Given the description of an element on the screen output the (x, y) to click on. 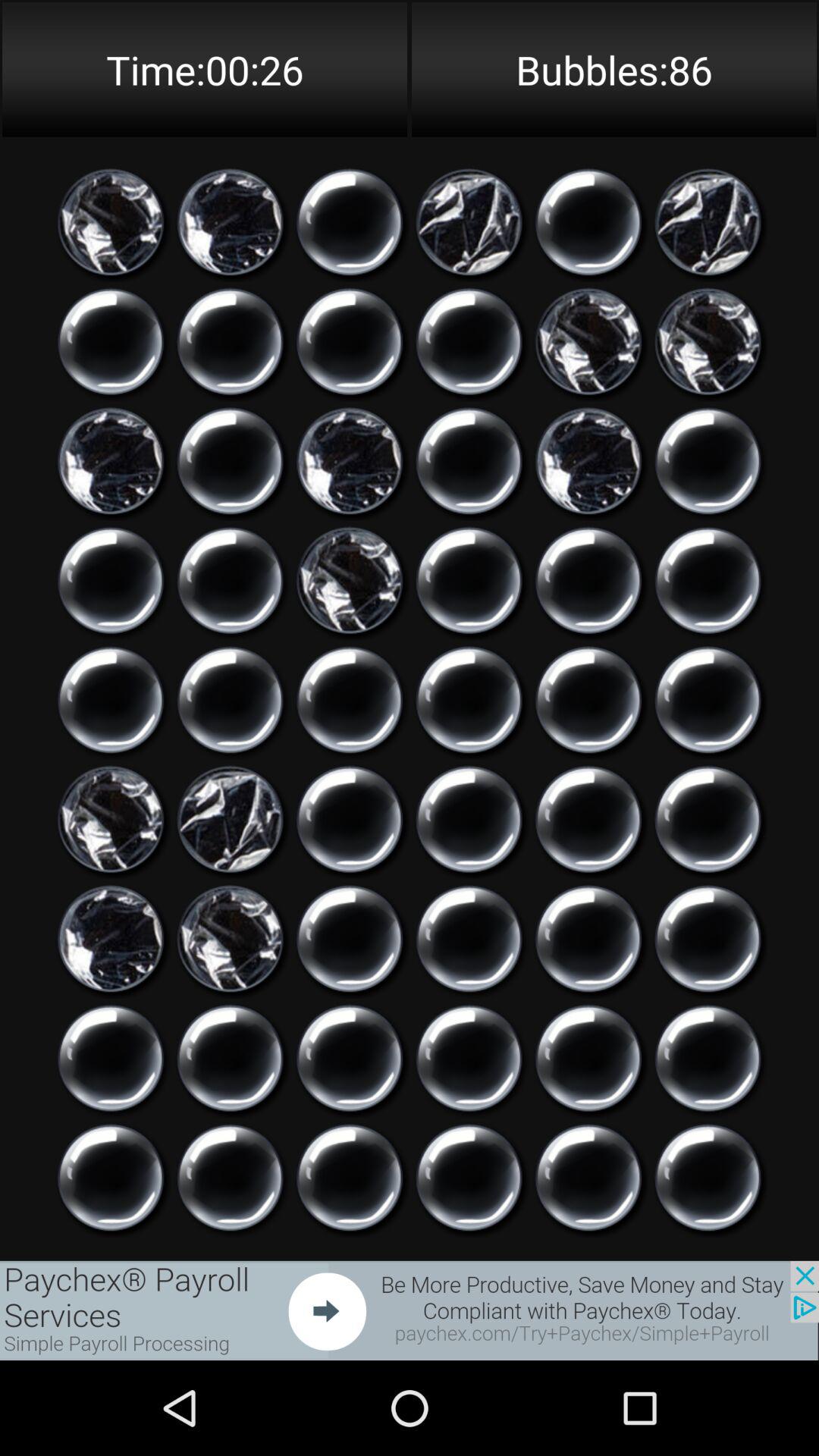
click on bubble (707, 1058)
